Given the description of an element on the screen output the (x, y) to click on. 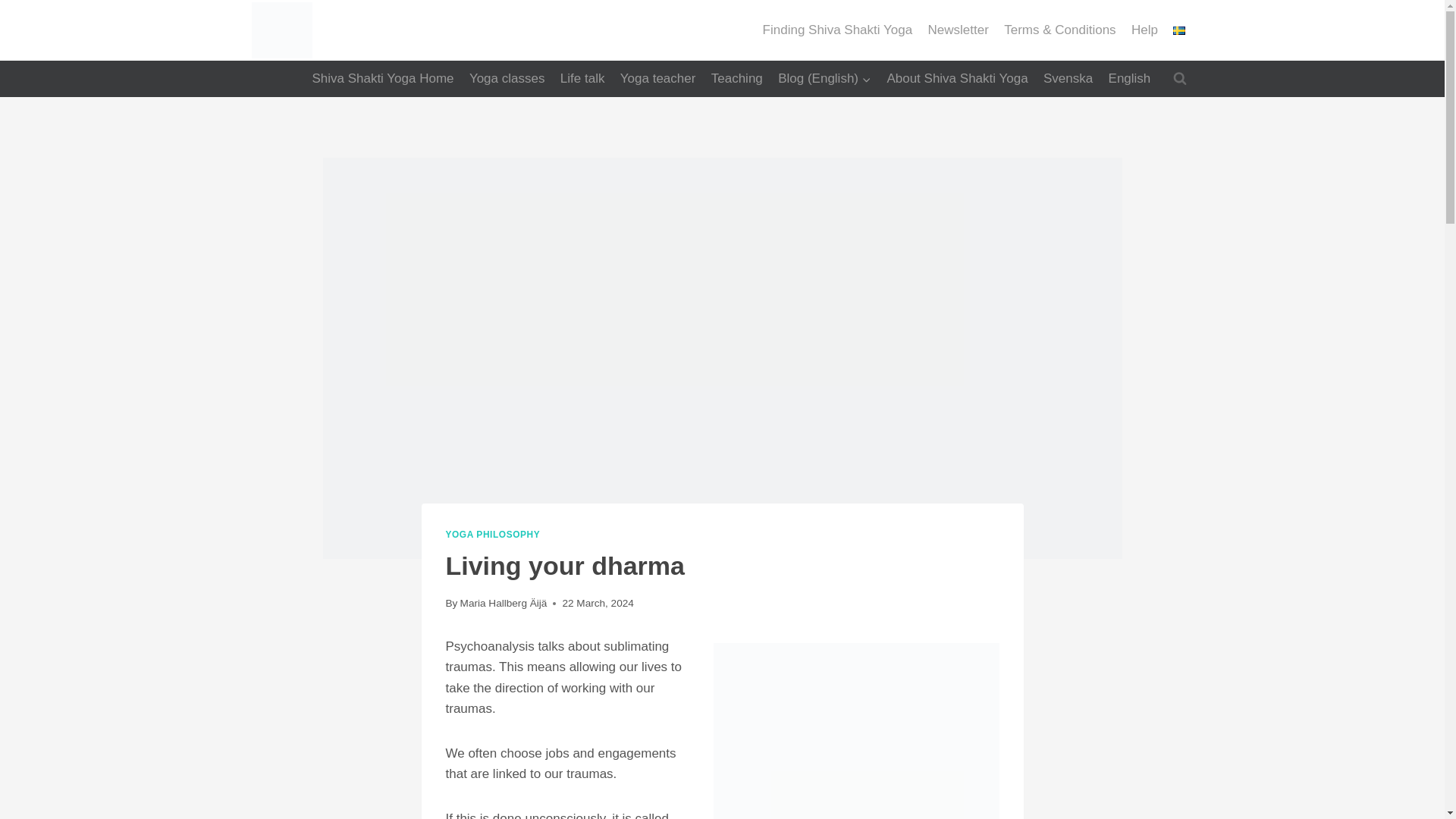
Help (1145, 30)
Newsletter (957, 30)
Yoga classes (507, 78)
About Shiva Shakti Yoga (957, 78)
YOGA PHILOSOPHY (492, 534)
Yoga teacher (657, 78)
Teaching (736, 78)
Svenska (1067, 78)
Life talk (582, 78)
English (1128, 78)
Shiva Shakti Yoga Home (382, 78)
Finding Shiva Shakti Yoga (837, 30)
